Given the description of an element on the screen output the (x, y) to click on. 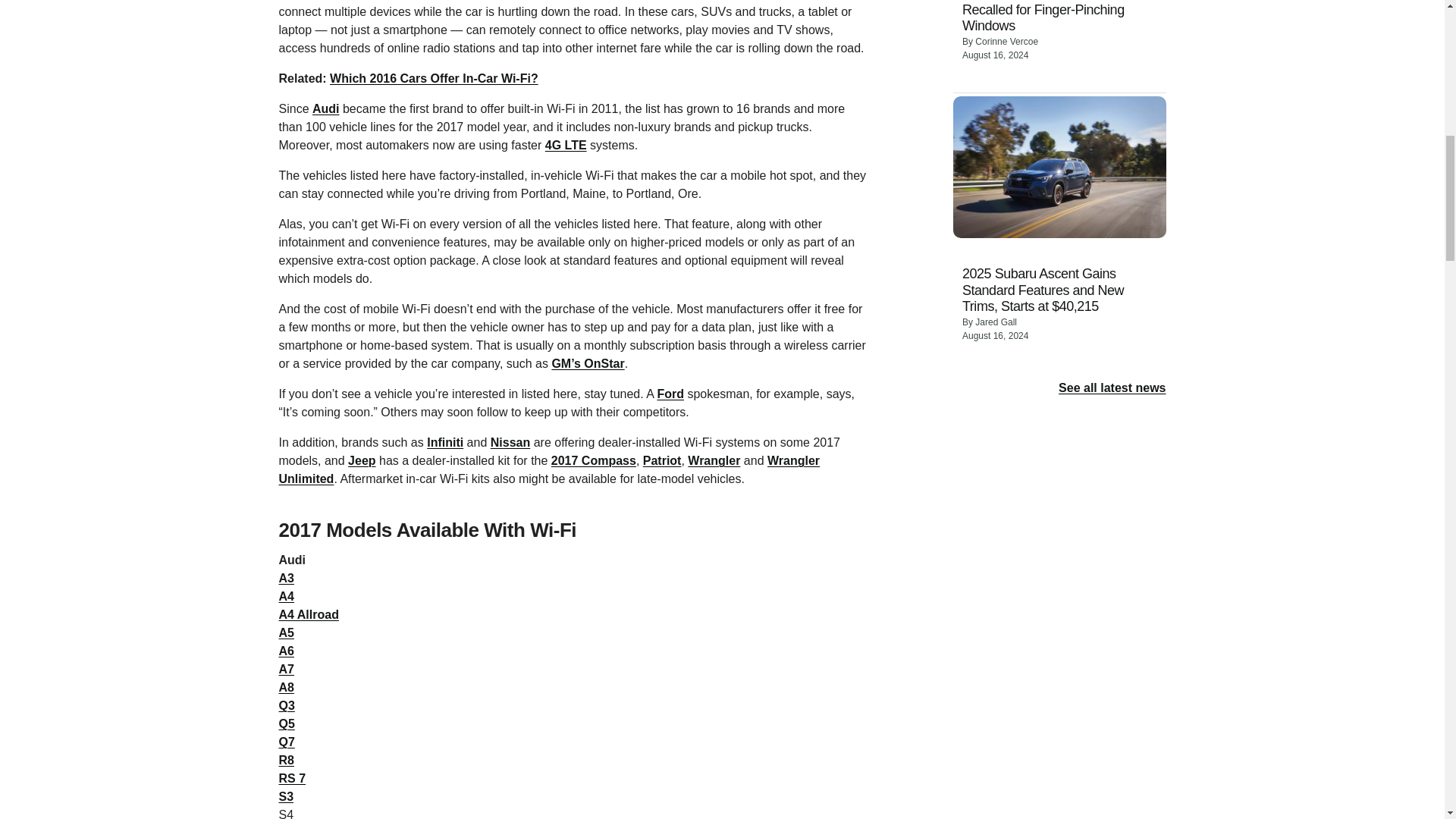
Wrangler (713, 460)
A3 (286, 577)
Which 2016 Cars Offer In-Car Wi-Fi? (434, 78)
Jeep (361, 460)
Infiniti (444, 441)
A7 (286, 668)
A8 (286, 686)
A4 (286, 595)
4G LTE (565, 144)
2017 Compass (593, 460)
